Given the description of an element on the screen output the (x, y) to click on. 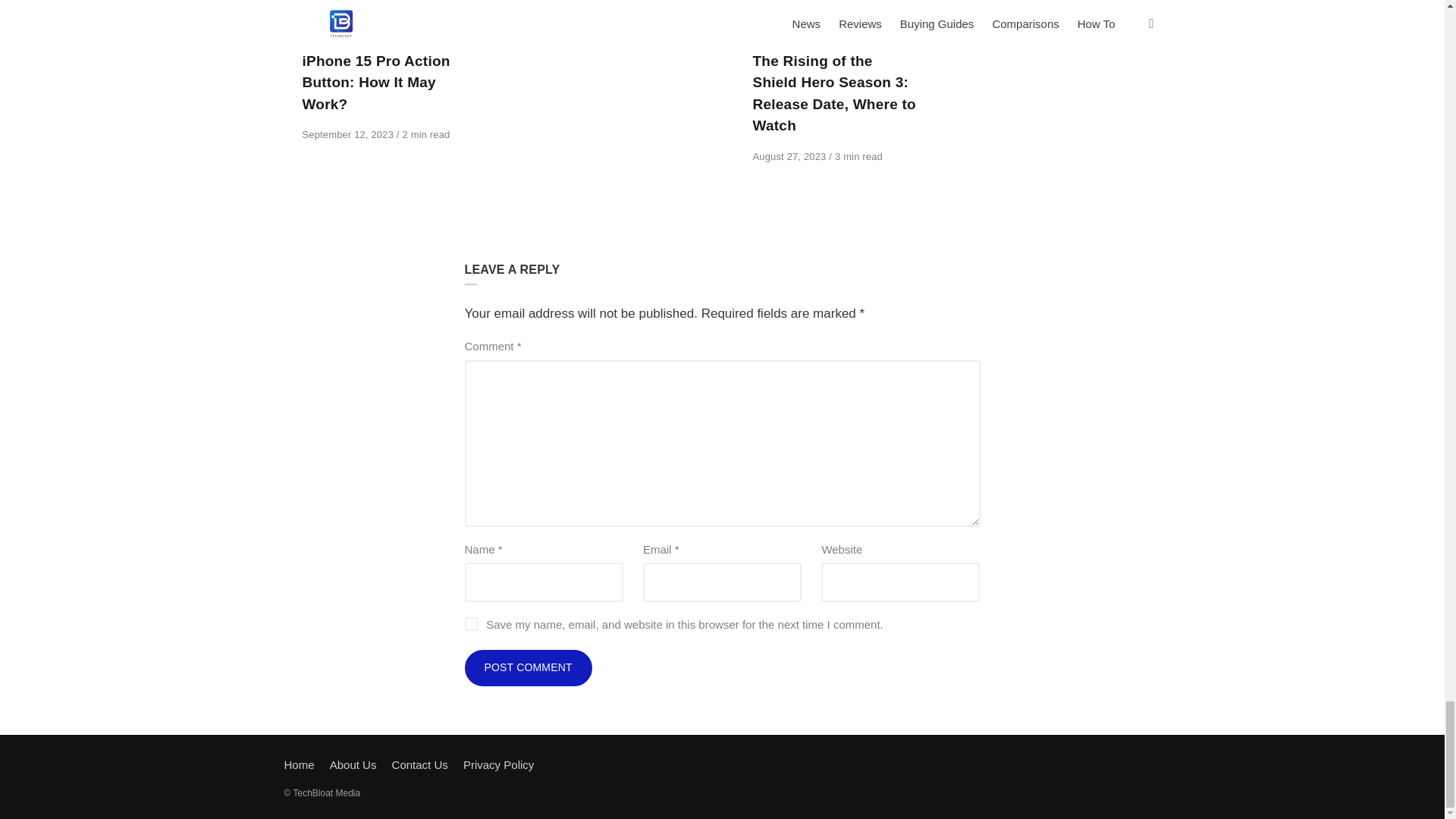
Post Comment (527, 668)
yes (470, 623)
News (767, 38)
September 12, 2023 (348, 134)
August 27, 2023 (790, 156)
News (316, 38)
